Given the description of an element on the screen output the (x, y) to click on. 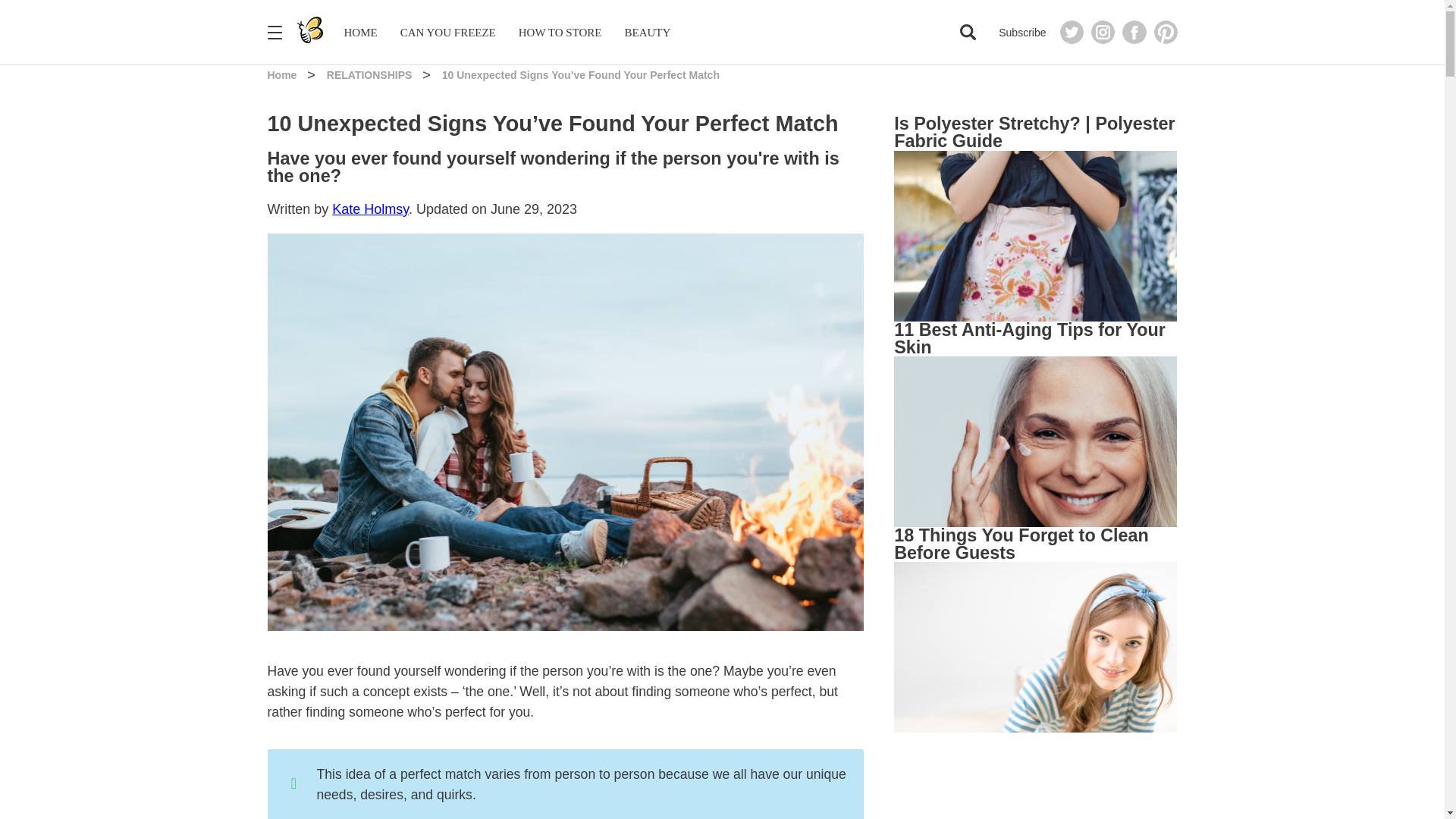
HOME (360, 31)
HOW TO STORE (560, 31)
BEAUTY (647, 31)
CAN YOU FREEZE (448, 31)
Home (282, 74)
RELATIONSHIPS (370, 74)
